Given the description of an element on the screen output the (x, y) to click on. 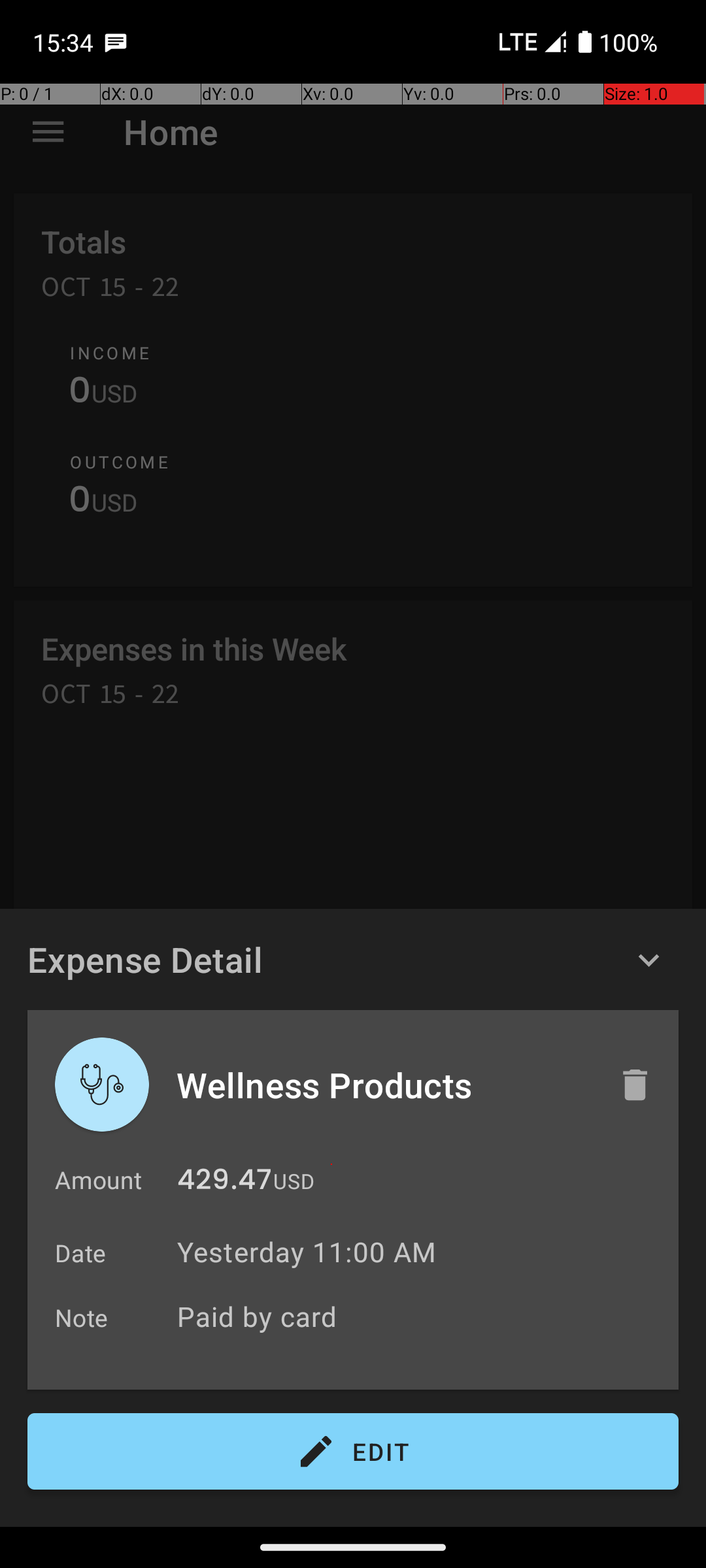
Wellness Products Element type: android.widget.TextView (383, 1084)
429.47 Element type: android.widget.TextView (224, 1182)
Yesterday 11:00 AM Element type: android.widget.TextView (306, 1251)
